Given the description of an element on the screen output the (x, y) to click on. 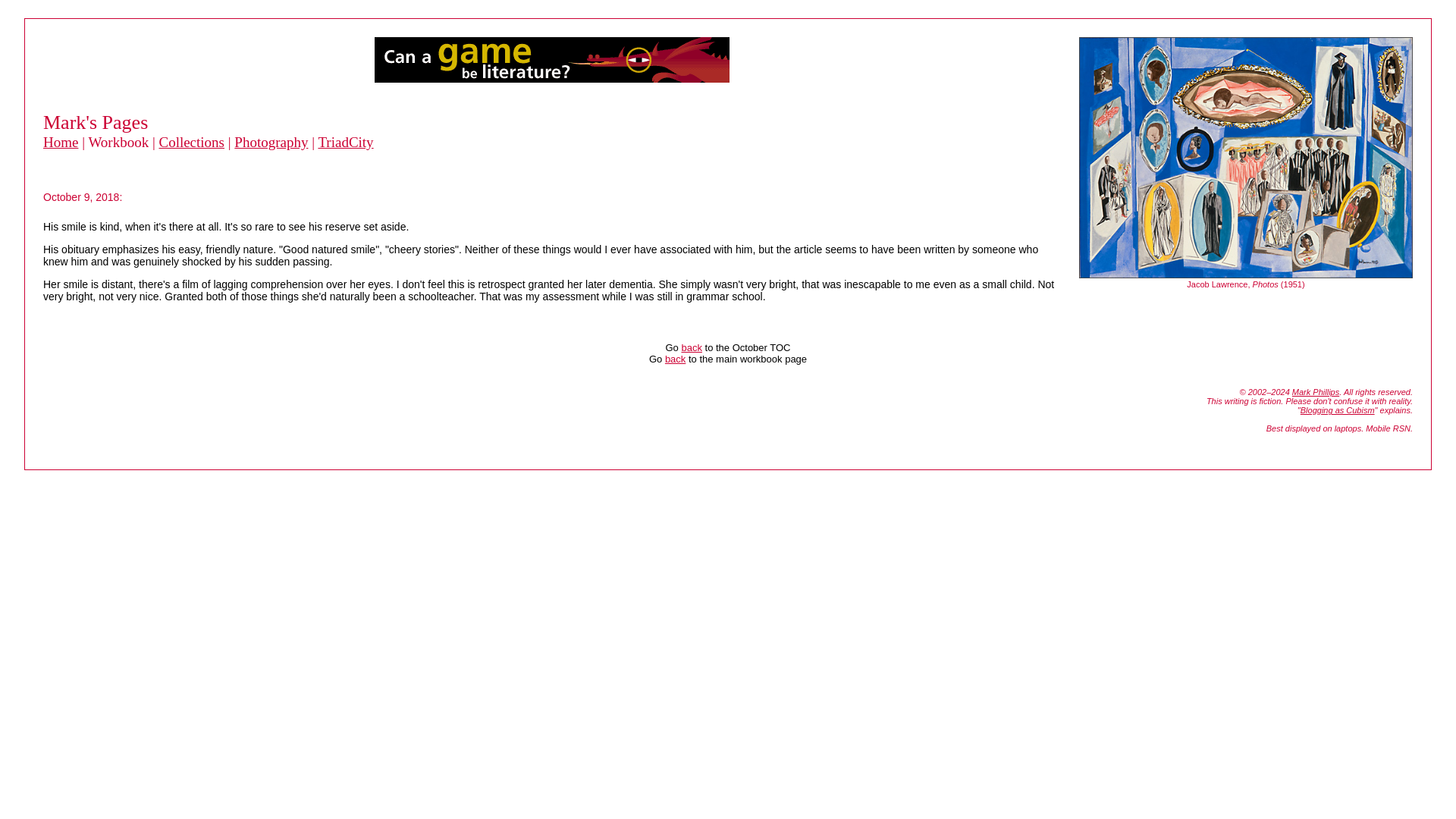
back (675, 358)
TriadCity (344, 141)
Mark Phillips (1315, 391)
Blogging as Cubism (1337, 409)
Home (60, 141)
Collections (191, 141)
back (691, 347)
Photography (270, 141)
